Given the description of an element on the screen output the (x, y) to click on. 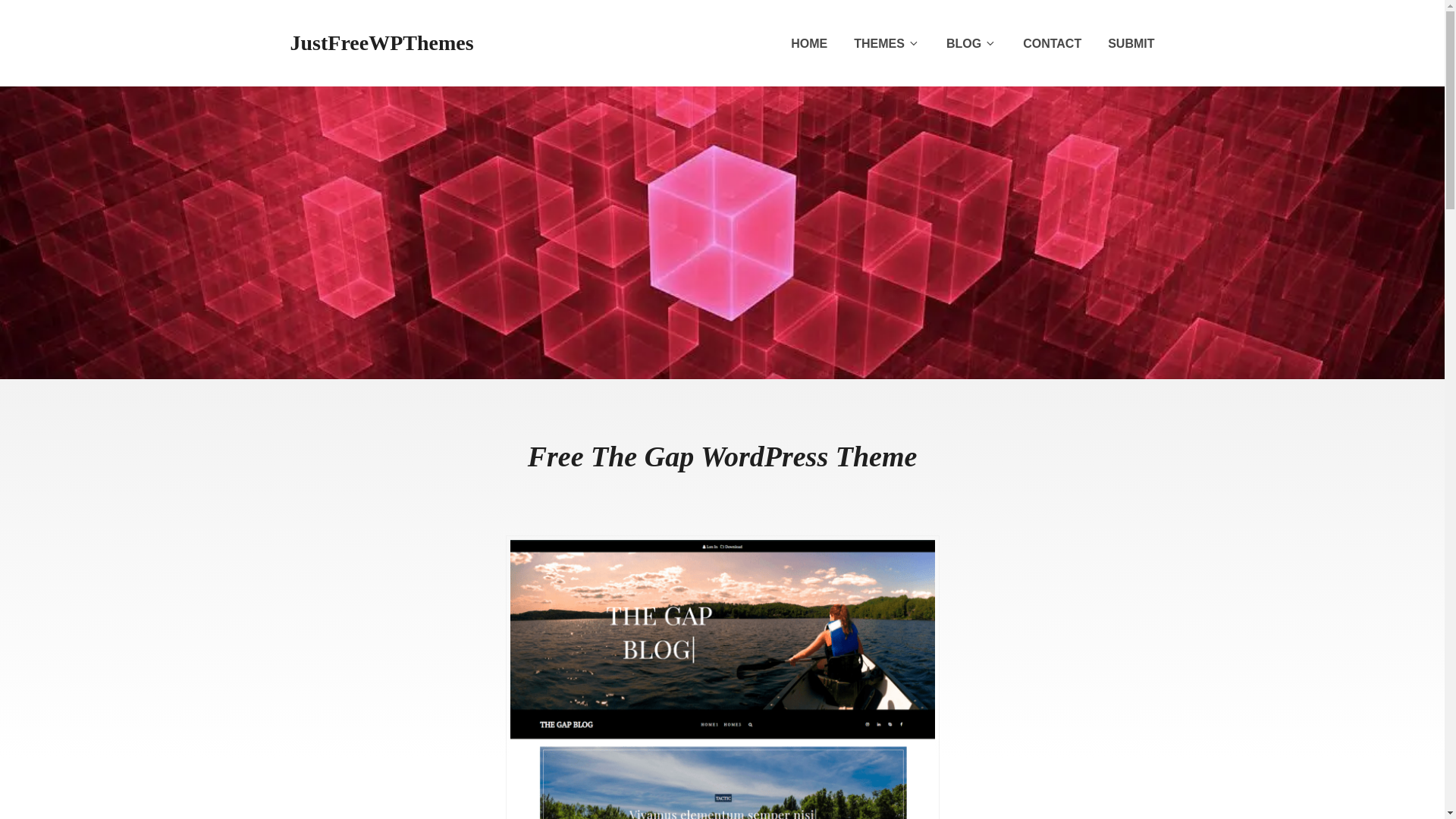
BLOG (970, 44)
HOME (808, 44)
THEMES (886, 44)
JustFreeWPThemes (381, 42)
SUBMIT (1131, 44)
CONTACT (1052, 44)
